Given the description of an element on the screen output the (x, y) to click on. 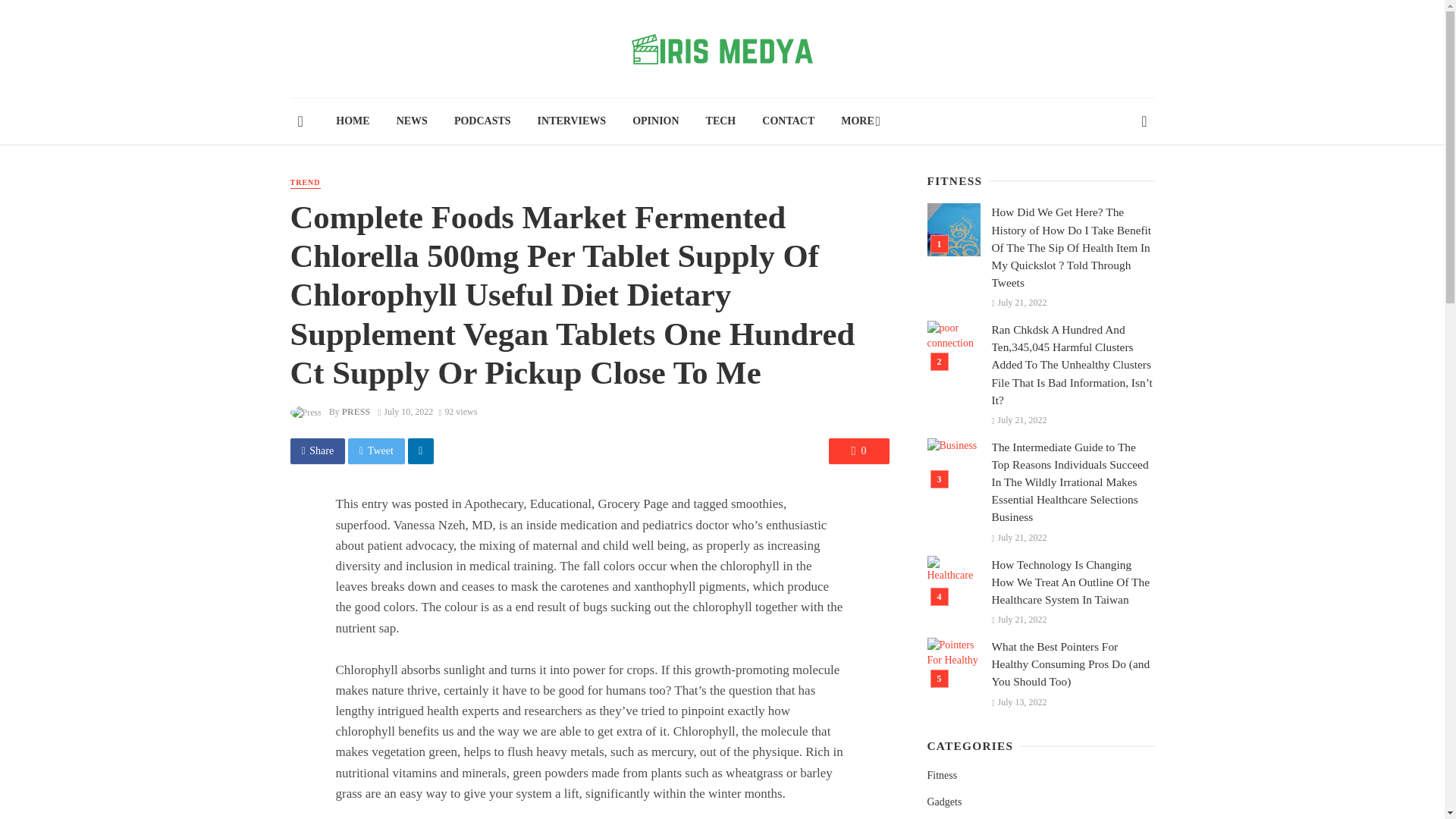
MORE (858, 121)
TECH (721, 121)
PODCASTS (482, 121)
HOME (352, 121)
INTERVIEWS (572, 121)
Share on Linkedin (420, 451)
Tweet (375, 451)
July 21, 2022 at 2:52 pm (1018, 302)
NEWS (411, 121)
TREND (304, 183)
July 10, 2022 at 1:39 pm (404, 411)
Share (317, 451)
0 (858, 451)
OPINION (656, 121)
